Given the description of an element on the screen output the (x, y) to click on. 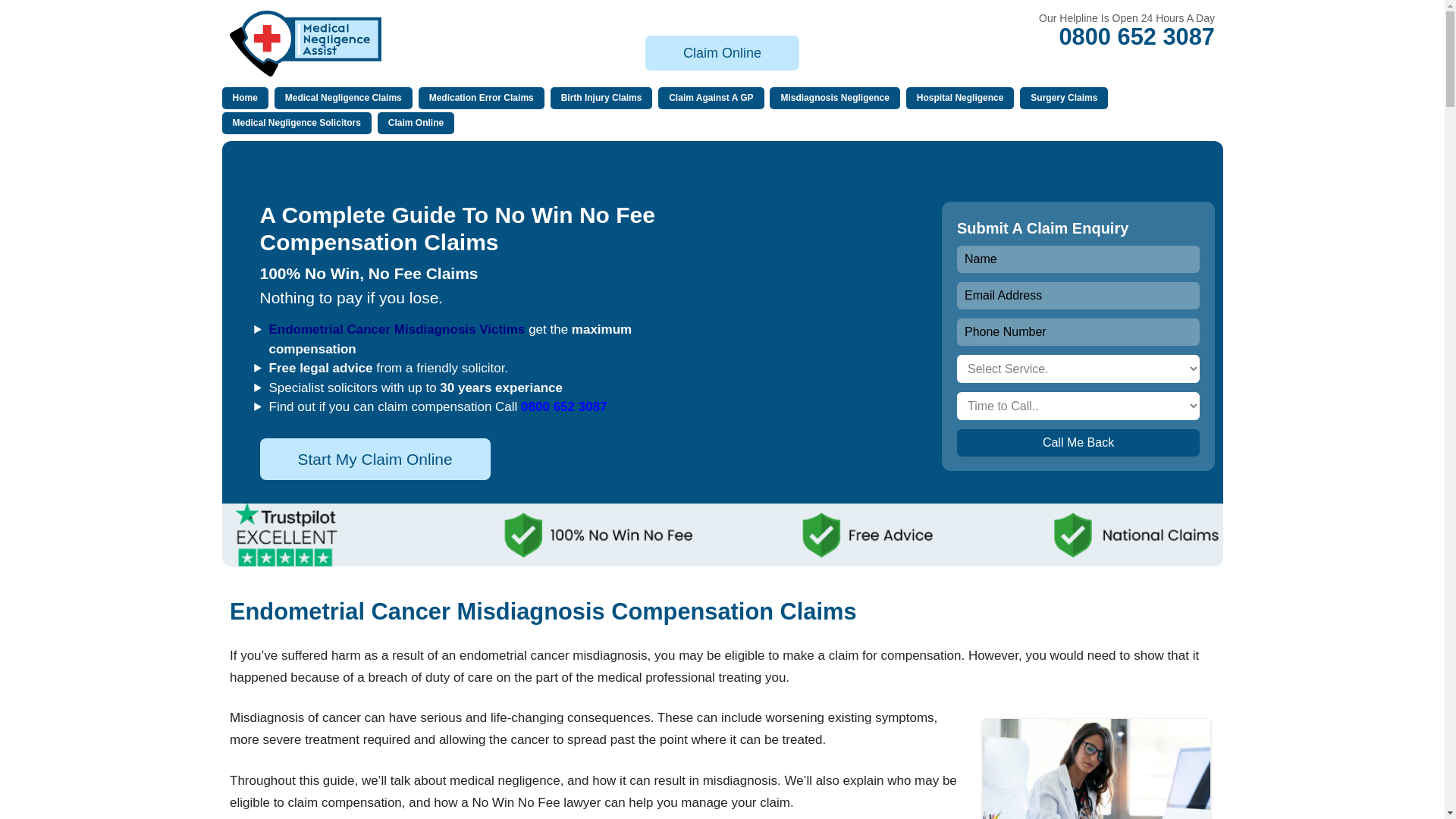
Medical Negligence Claims (343, 97)
Home (244, 97)
Claim Online (722, 52)
Call Me Back (1077, 442)
Medication Error Claims (481, 97)
Claim Against A GP (710, 97)
0800 652 3087 (1136, 36)
Hospital Negligence (959, 97)
Birth Injury Claims (601, 97)
